Given the description of an element on the screen output the (x, y) to click on. 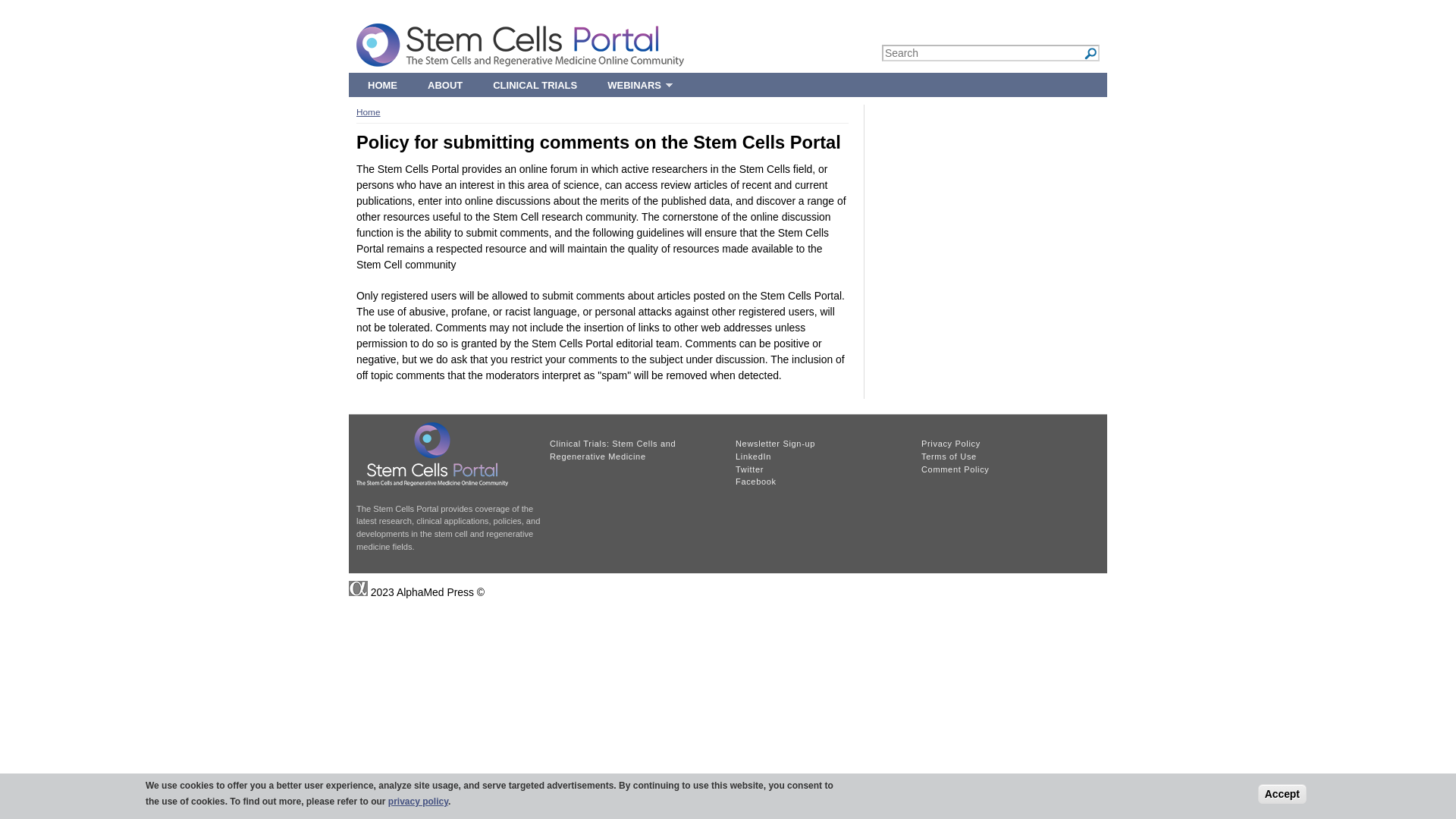
Terms of Use (948, 456)
Enter the terms you wish to search for. (990, 53)
related (634, 449)
Facebook (755, 481)
LinkedIn (753, 456)
HOME (382, 84)
Twitter (748, 469)
related (1006, 456)
Home (368, 112)
related (821, 462)
